Given the description of an element on the screen output the (x, y) to click on. 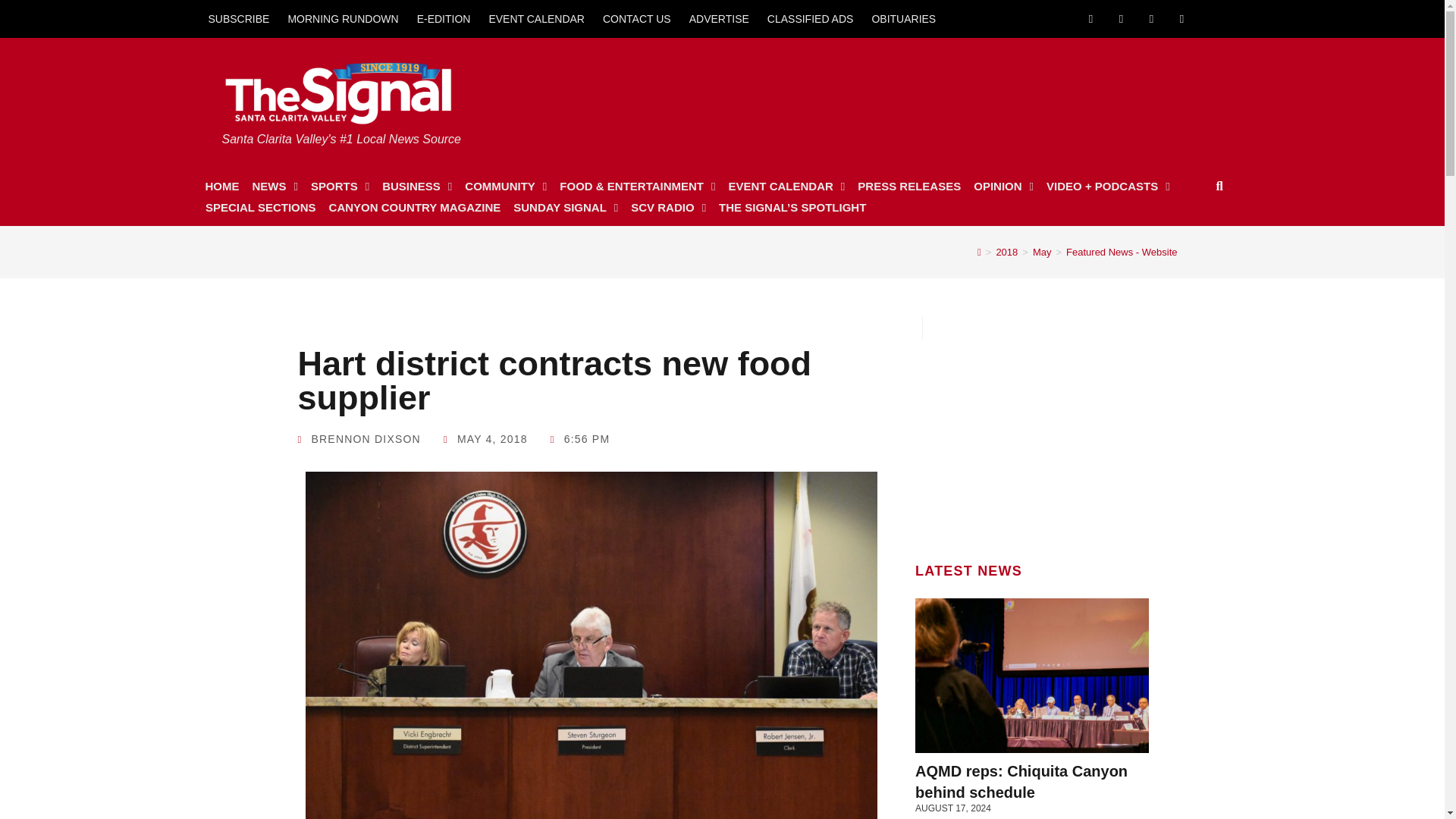
ADVERTISE (718, 18)
CONTACT US (636, 18)
CLASSIFIED ADS (810, 18)
OBITUARIES (902, 18)
SPORTS (339, 186)
3rd party ad content (1031, 433)
HOME (221, 186)
E-EDITION (443, 18)
3rd party ad content (932, 94)
EVENT CALENDAR (536, 18)
